Given the description of an element on the screen output the (x, y) to click on. 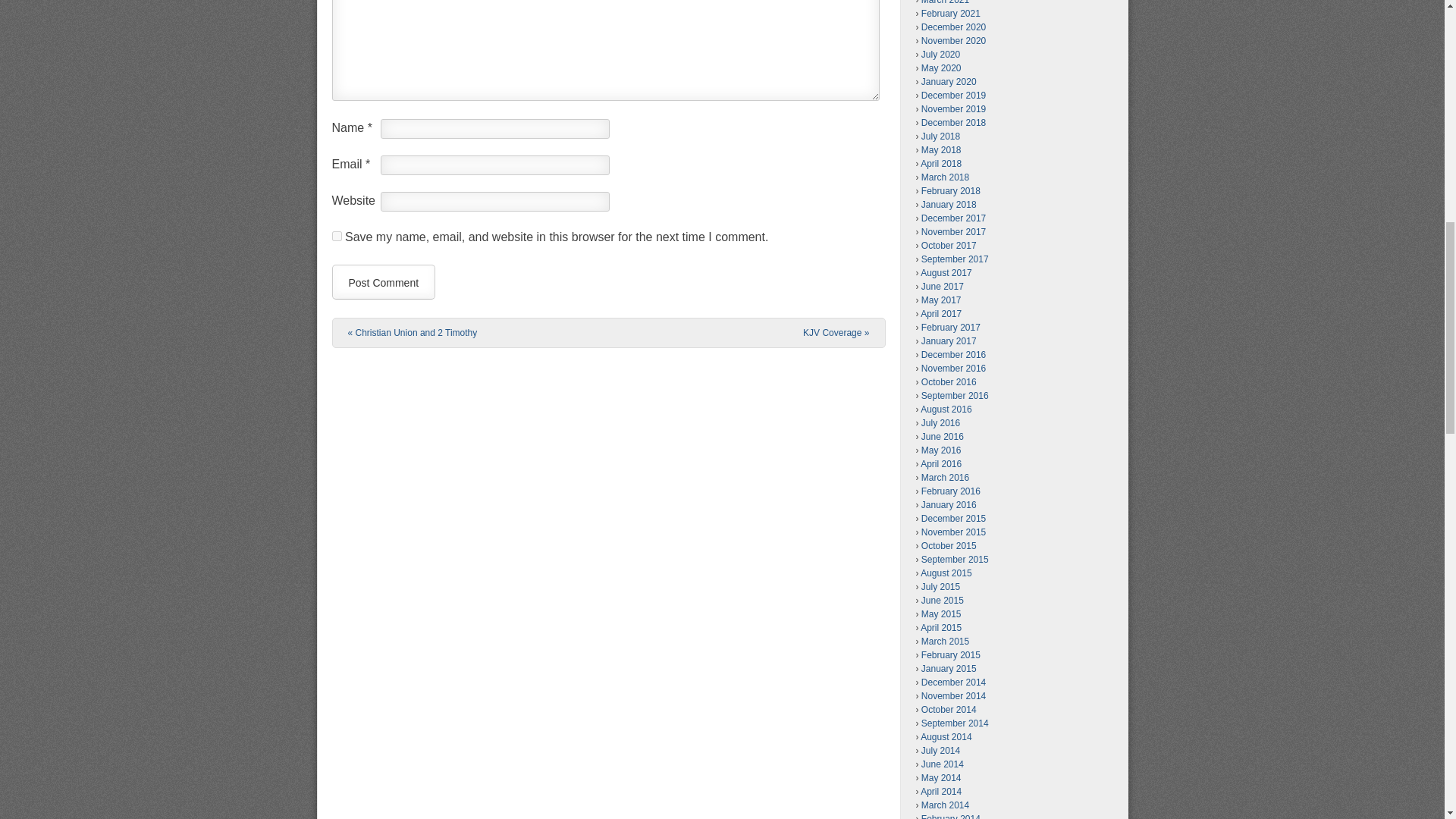
yes (336, 235)
Post Comment (383, 281)
Post Comment (383, 281)
